Given the description of an element on the screen output the (x, y) to click on. 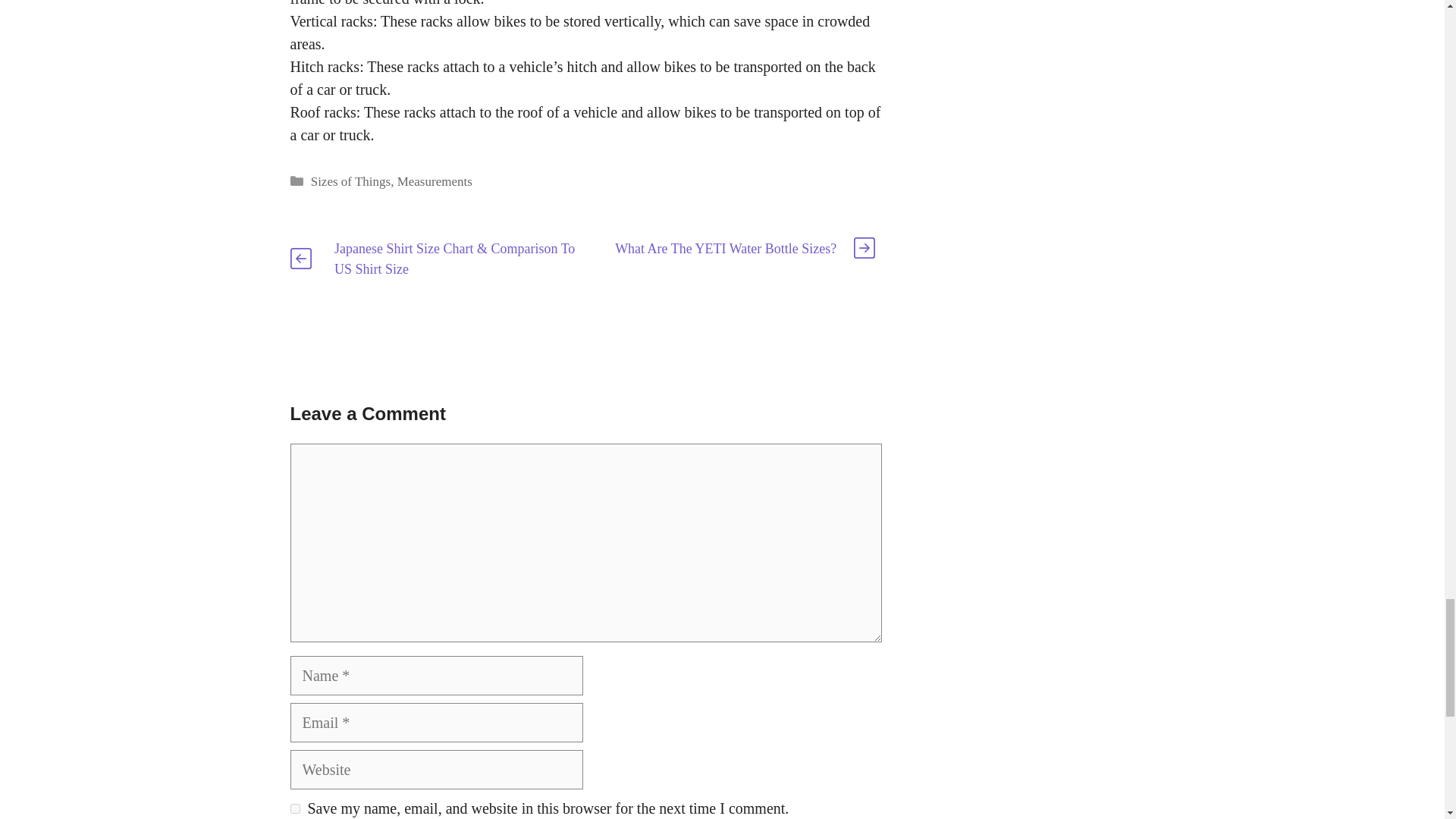
Measurements (434, 181)
yes (294, 808)
Sizes of Things (350, 181)
What Are The YETI Water Bottle Sizes? (724, 248)
